Given the description of an element on the screen output the (x, y) to click on. 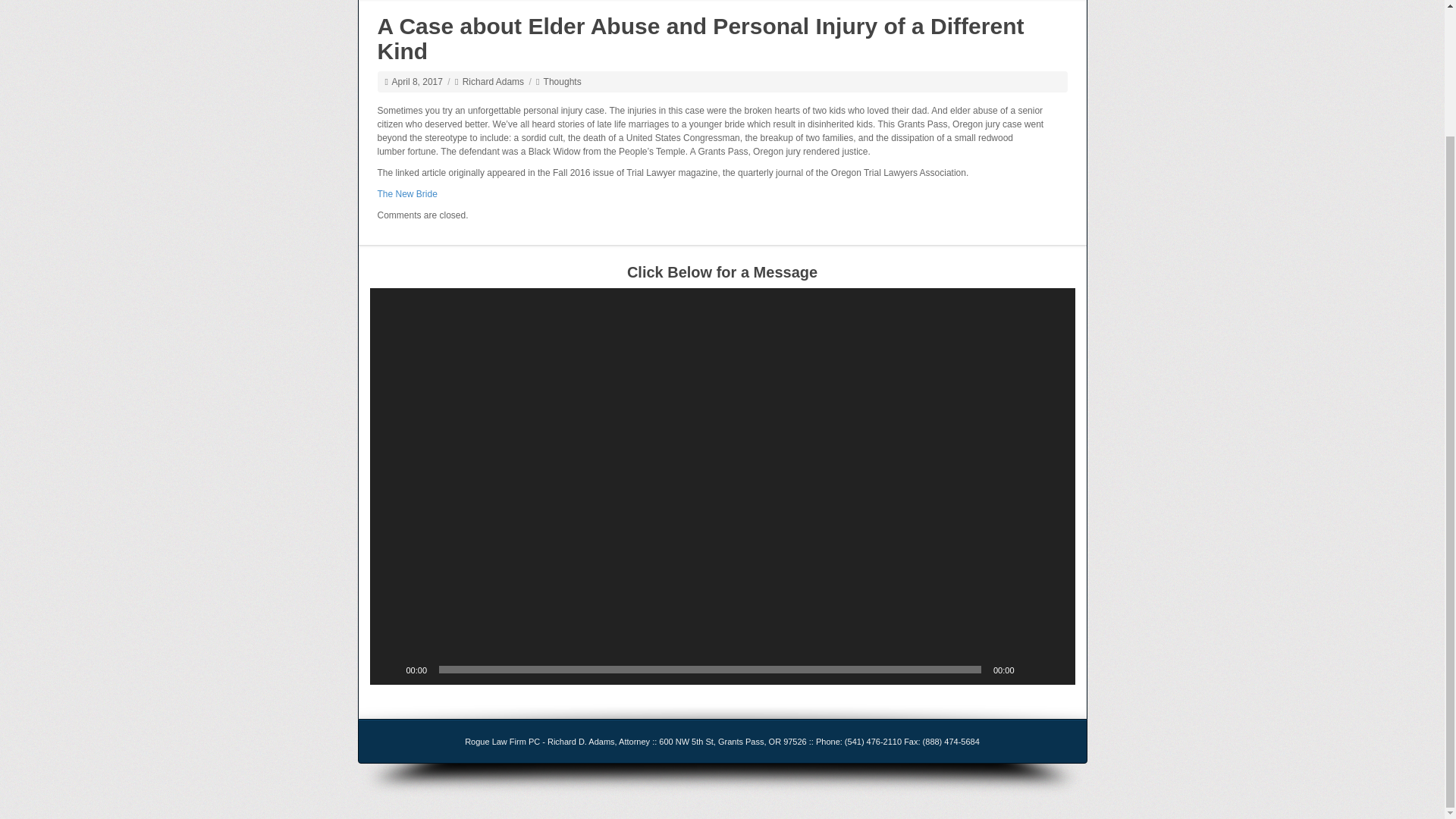
Fullscreen (1055, 669)
Richard Adams (493, 81)
Play (389, 669)
The New Bride (407, 193)
Mute (1031, 669)
View all posts by Richard Adams (493, 81)
Thoughts (561, 81)
